Given the description of an element on the screen output the (x, y) to click on. 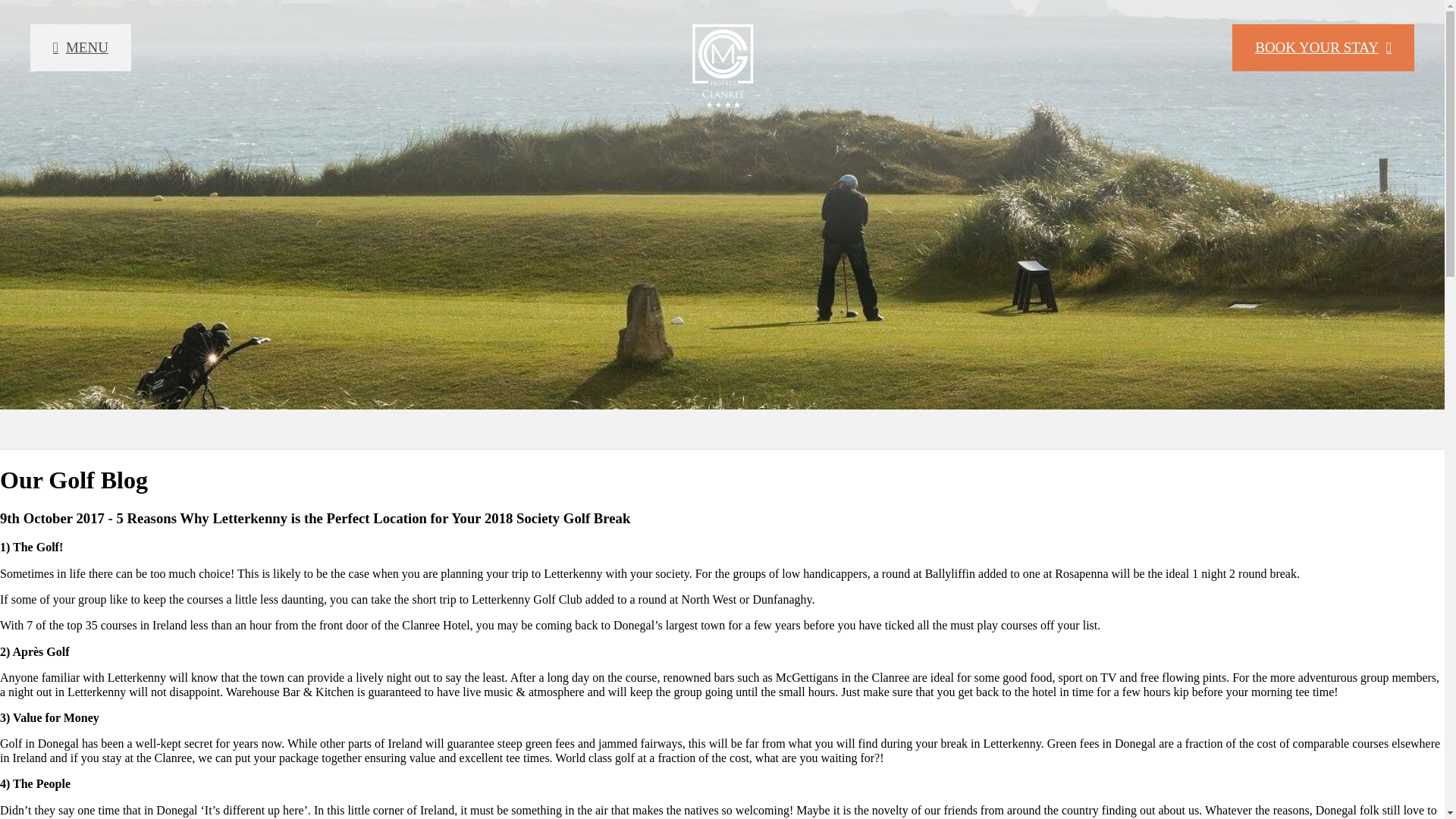
Clanree Hotel (722, 65)
BOOK YOUR STAY (1322, 47)
MENU (80, 47)
